Given the description of an element on the screen output the (x, y) to click on. 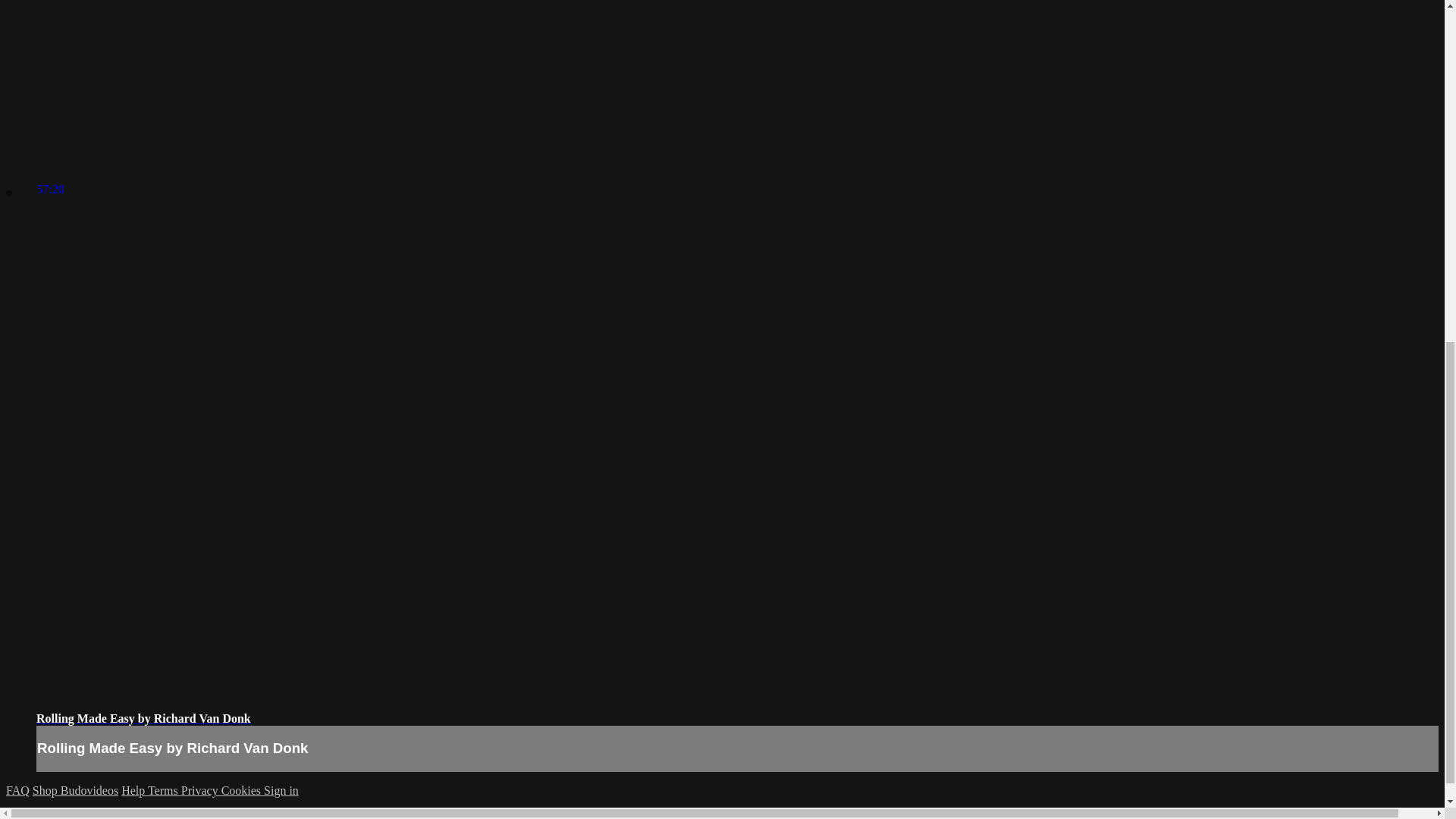
Help (134, 789)
Rolling Made Easy by Richard Van Donk (143, 717)
Sign in (280, 789)
Shop Budovideos (74, 789)
Terms (164, 789)
Rolling Made Easy by Richard Van Donk (143, 717)
Privacy (200, 789)
Cookies (242, 789)
FAQ (17, 789)
